Given the description of an element on the screen output the (x, y) to click on. 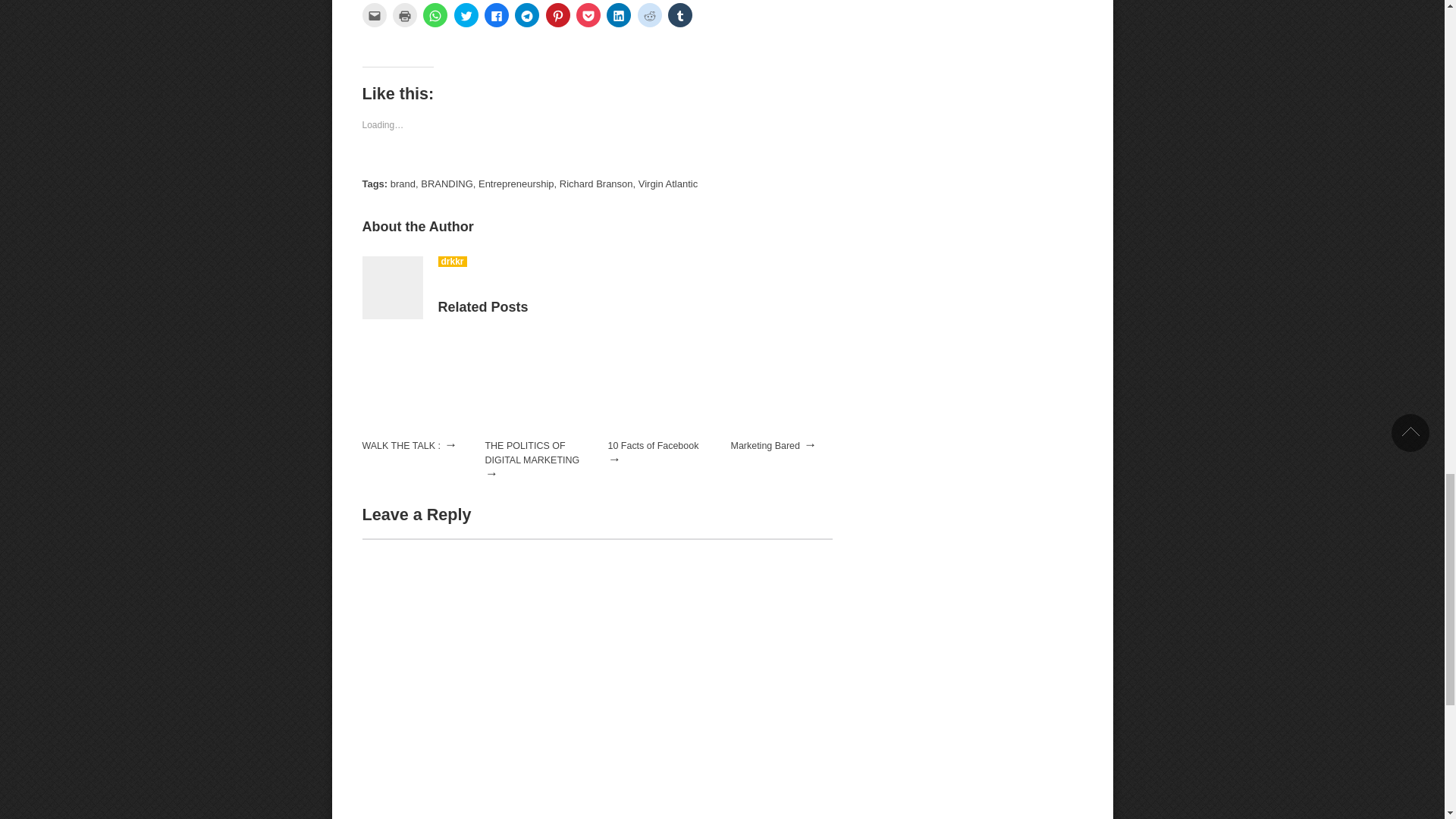
THE POLITICS OF DIGITAL MARKETING (535, 432)
Virgin Atlantic (668, 183)
Marketing Bared (764, 445)
Posts by drkkr (452, 261)
THE POLITICS OF DIGITAL MARKETING (531, 453)
WALK THE TALK : (413, 432)
Comment Form (597, 678)
BRANDING (446, 183)
10 Facts of Facebook (653, 445)
10 Facts of Facebook (653, 445)
WALK THE TALK : (401, 445)
Richard Branson (596, 183)
drkkr (452, 261)
Entrepreneurship (516, 183)
Marketing Bared (764, 445)
